Given the description of an element on the screen output the (x, y) to click on. 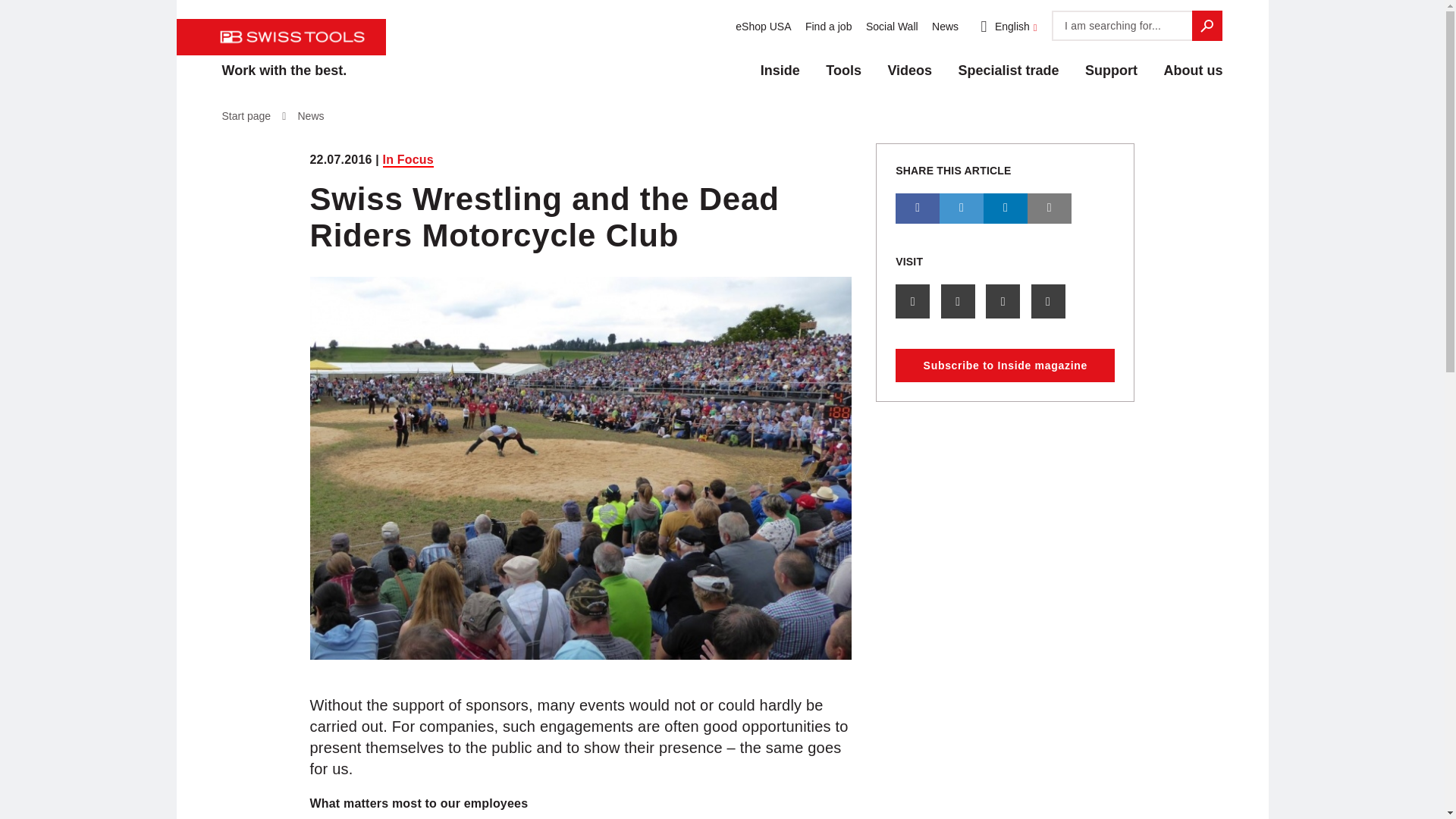
eShop USA (760, 26)
English (1002, 26)
Find a job (825, 26)
Social Wall (889, 26)
Tools (842, 64)
News (942, 26)
Inside (779, 64)
